Given the description of an element on the screen output the (x, y) to click on. 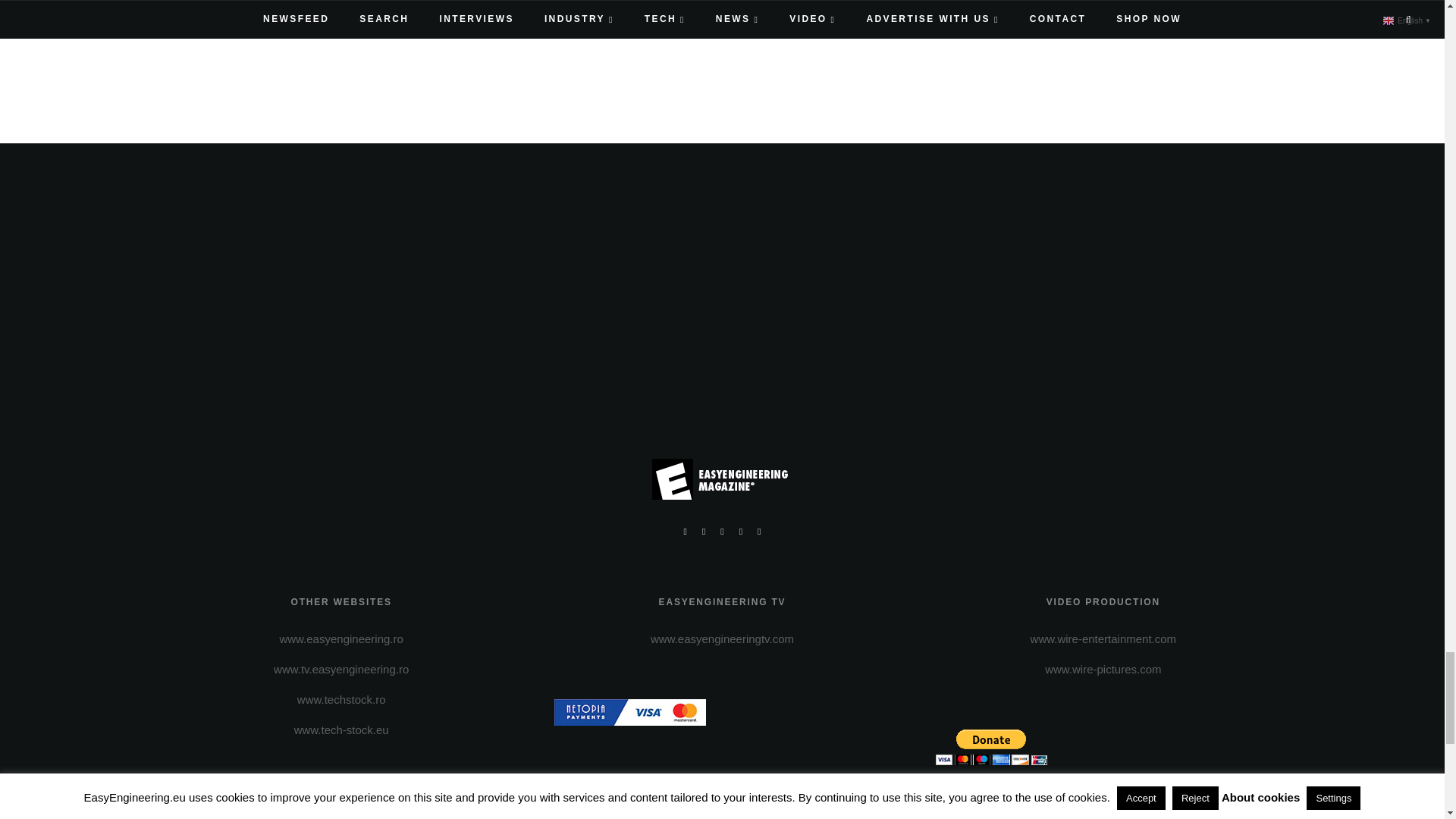
PayPal - The safer, easier way to pay online! (991, 746)
